Given the description of an element on the screen output the (x, y) to click on. 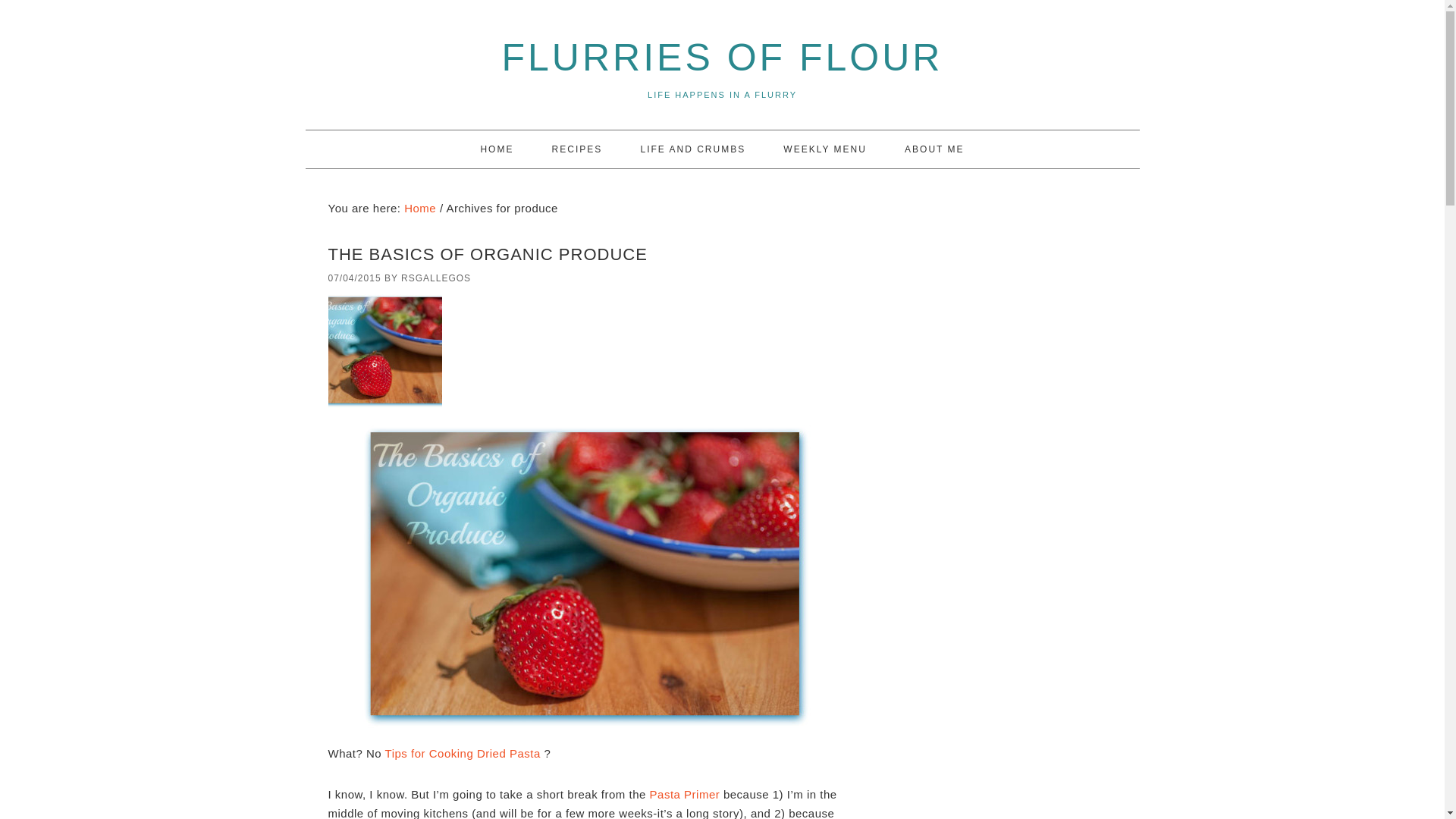
RECIPES (577, 149)
FLURRIES OF FLOUR (722, 57)
THE BASICS OF ORGANIC PRODUCE (486, 253)
HOME (496, 149)
RSGALLEGOS (435, 277)
LIFE AND CRUMBS (692, 149)
Home Page (496, 149)
Pasta Primer (686, 793)
Home (419, 207)
WEEKLY MENU (825, 149)
